Given the description of an element on the screen output the (x, y) to click on. 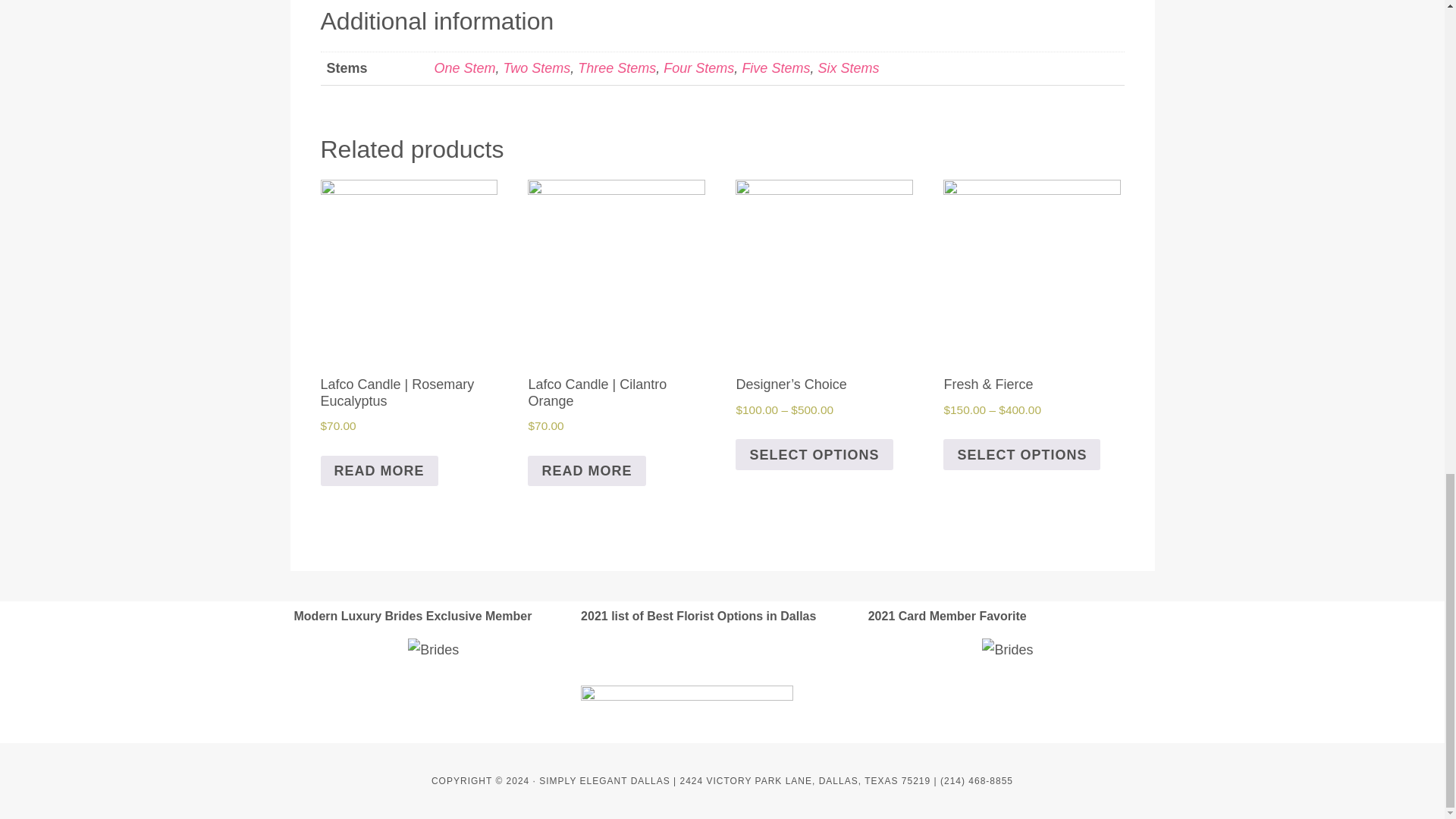
Three Stems (617, 68)
One Stem (464, 68)
Five Stems (775, 68)
Two Stems (536, 68)
Four Stems (698, 68)
